Given the description of an element on the screen output the (x, y) to click on. 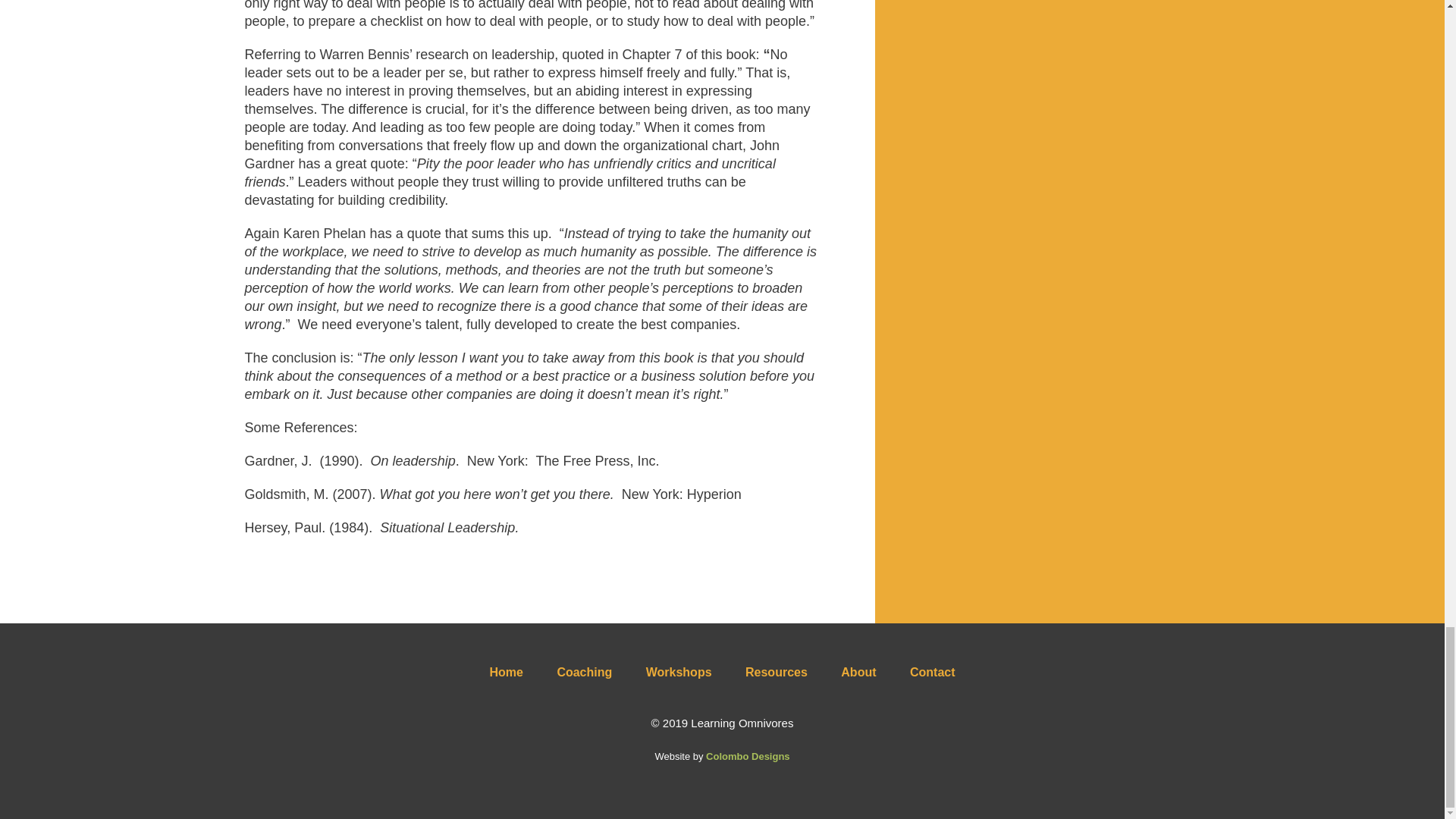
Colombo Designs (748, 756)
Home (505, 671)
Coaching (583, 671)
About (858, 671)
Contact (932, 671)
Workshops (678, 671)
Resources (776, 671)
